Given the description of an element on the screen output the (x, y) to click on. 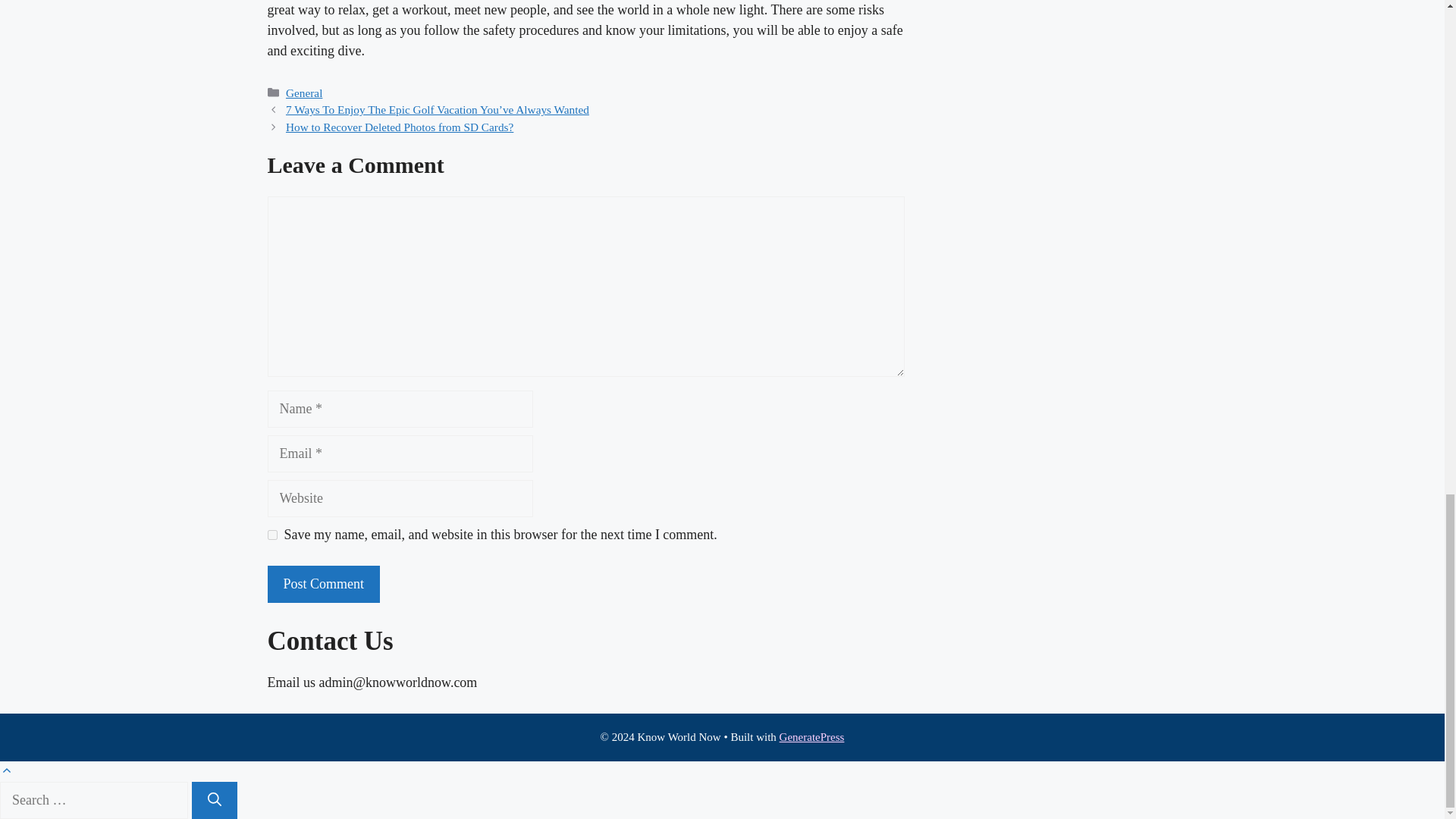
Post Comment (323, 583)
General (303, 92)
Scroll back to top (6, 770)
Post Comment (323, 583)
GeneratePress (811, 736)
yes (271, 534)
How to Recover Deleted Photos from SD Cards? (399, 126)
